Given the description of an element on the screen output the (x, y) to click on. 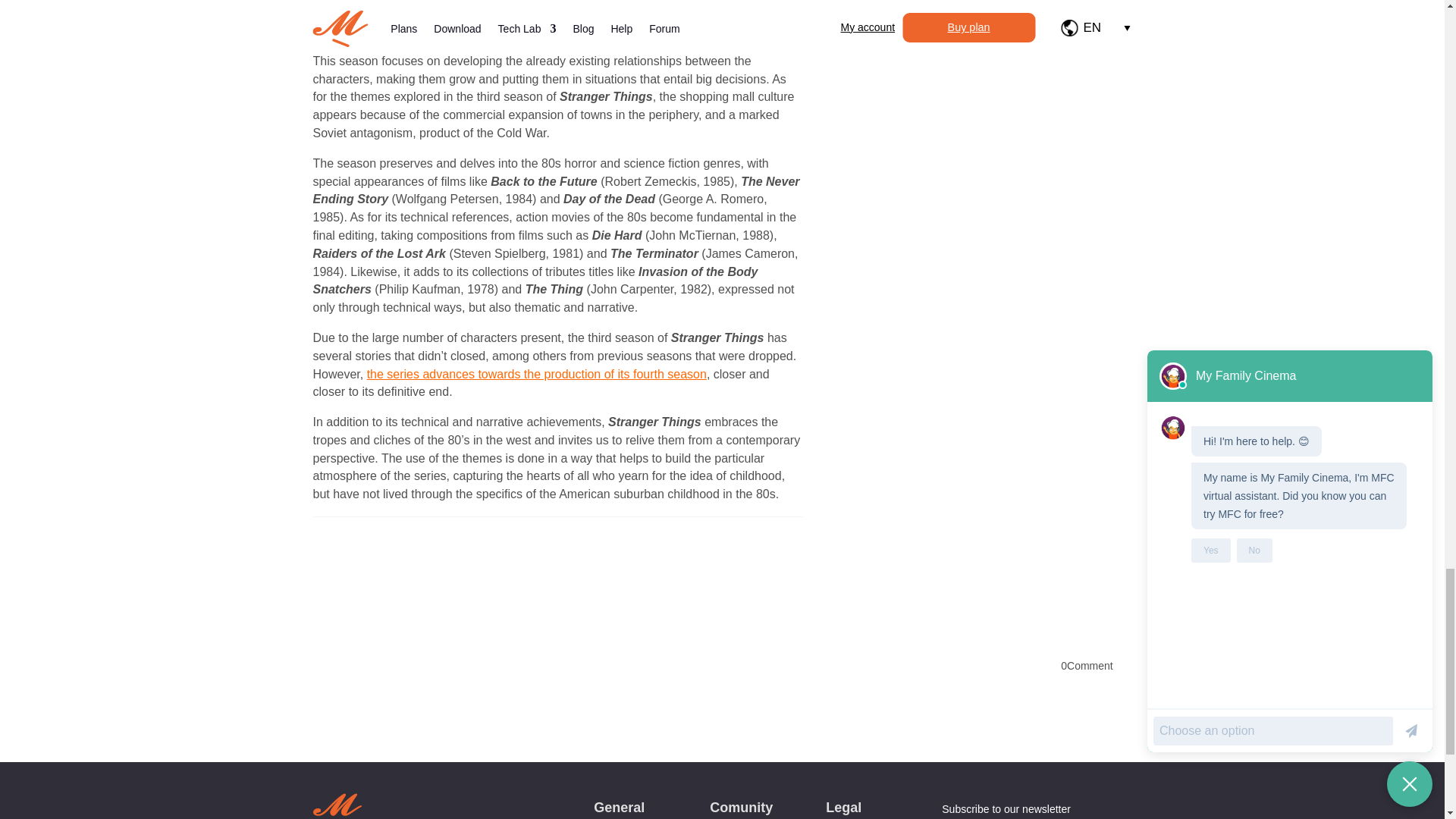
cropped-MFClogo-01-1.png (337, 802)
